Given the description of an element on the screen output the (x, y) to click on. 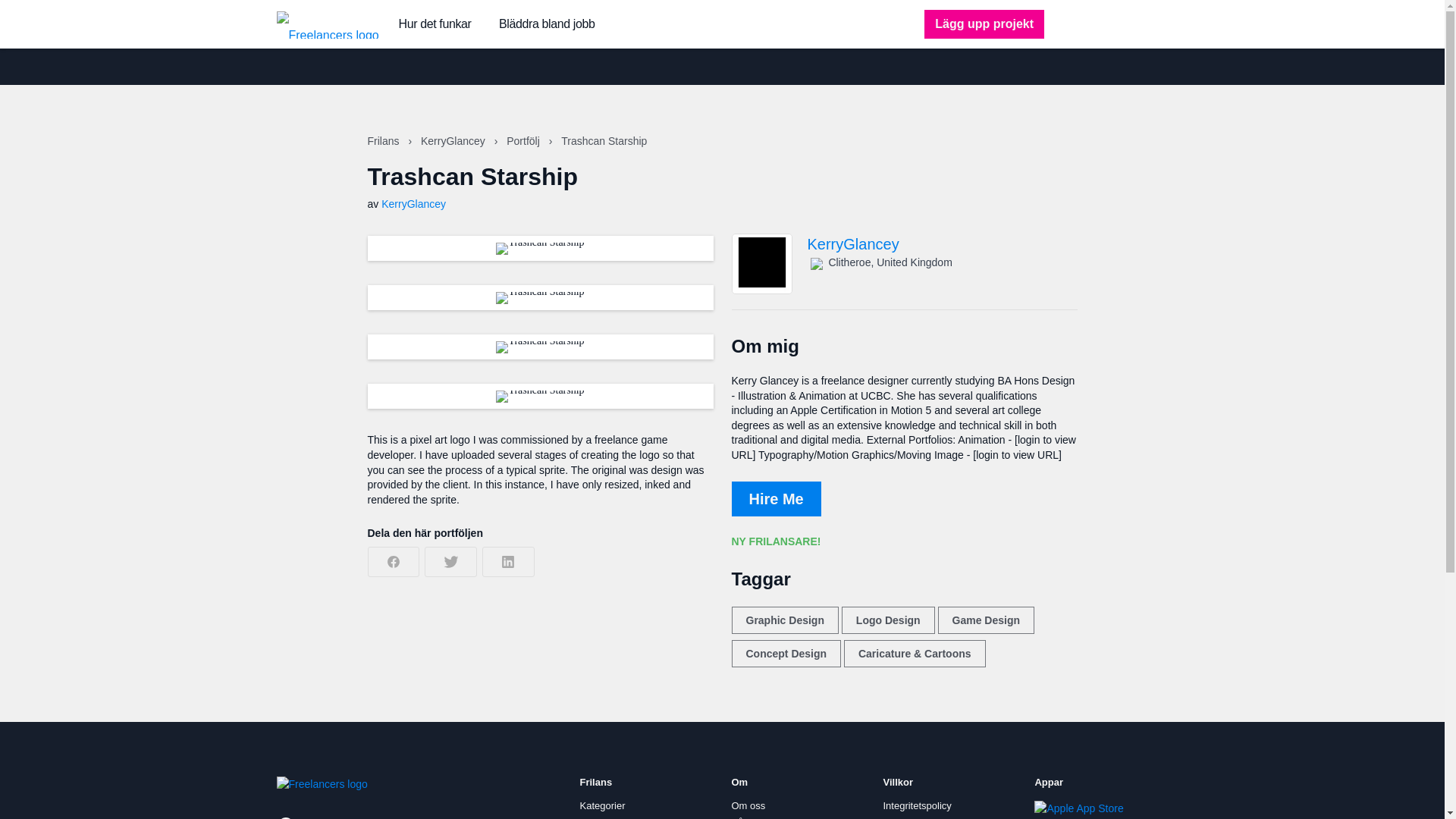
Concept Design (785, 653)
KerryGlancey (453, 141)
Kategorier (601, 806)
KerryGlancey (941, 243)
Game Design (985, 619)
Om oss (747, 806)
Svenska - Sweden (330, 817)
Graphic Design (784, 619)
Logo Design (887, 619)
Frilans (383, 141)
